Given the description of an element on the screen output the (x, y) to click on. 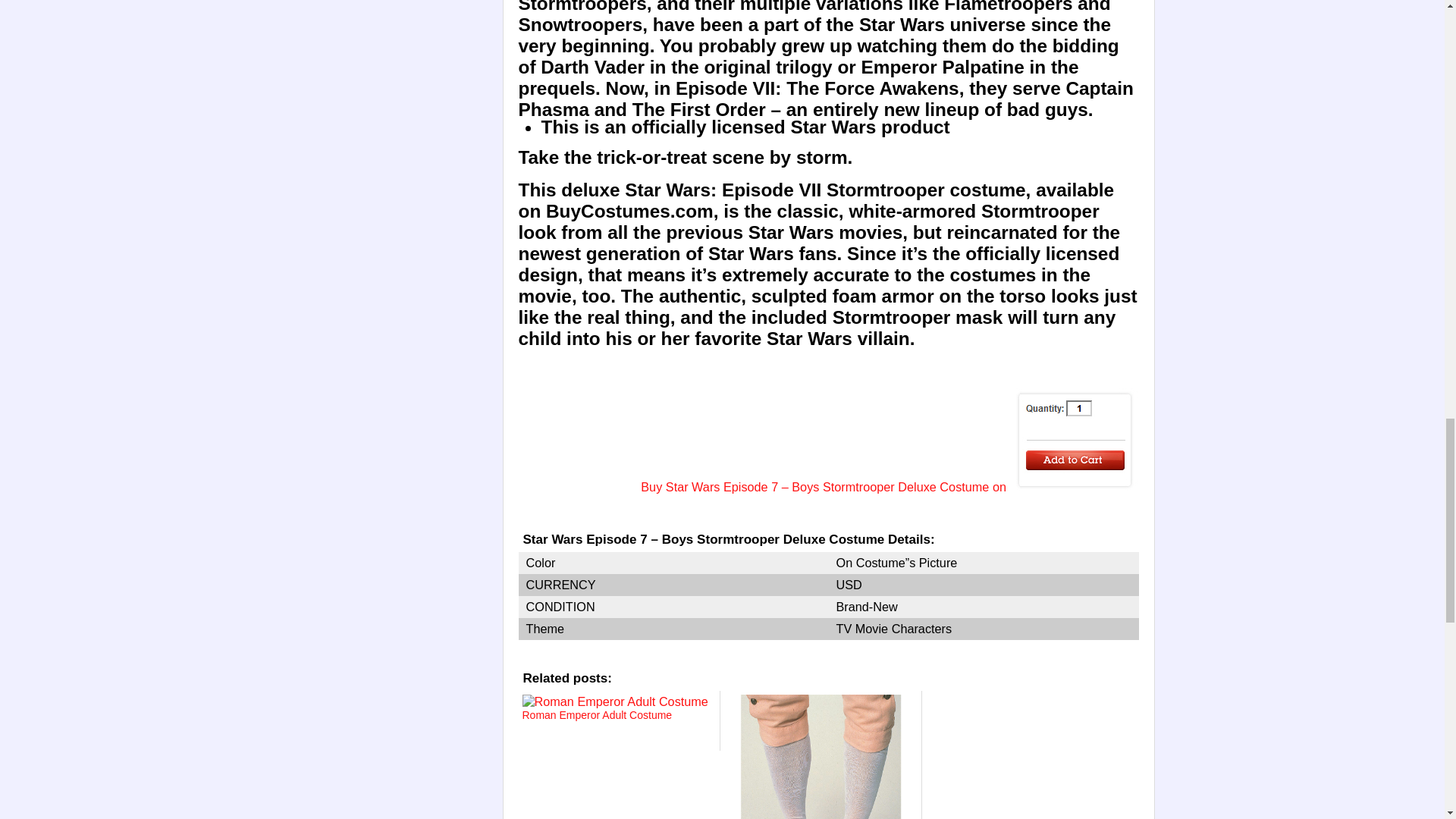
Roman Emperor Adult Costume (617, 727)
